Given the description of an element on the screen output the (x, y) to click on. 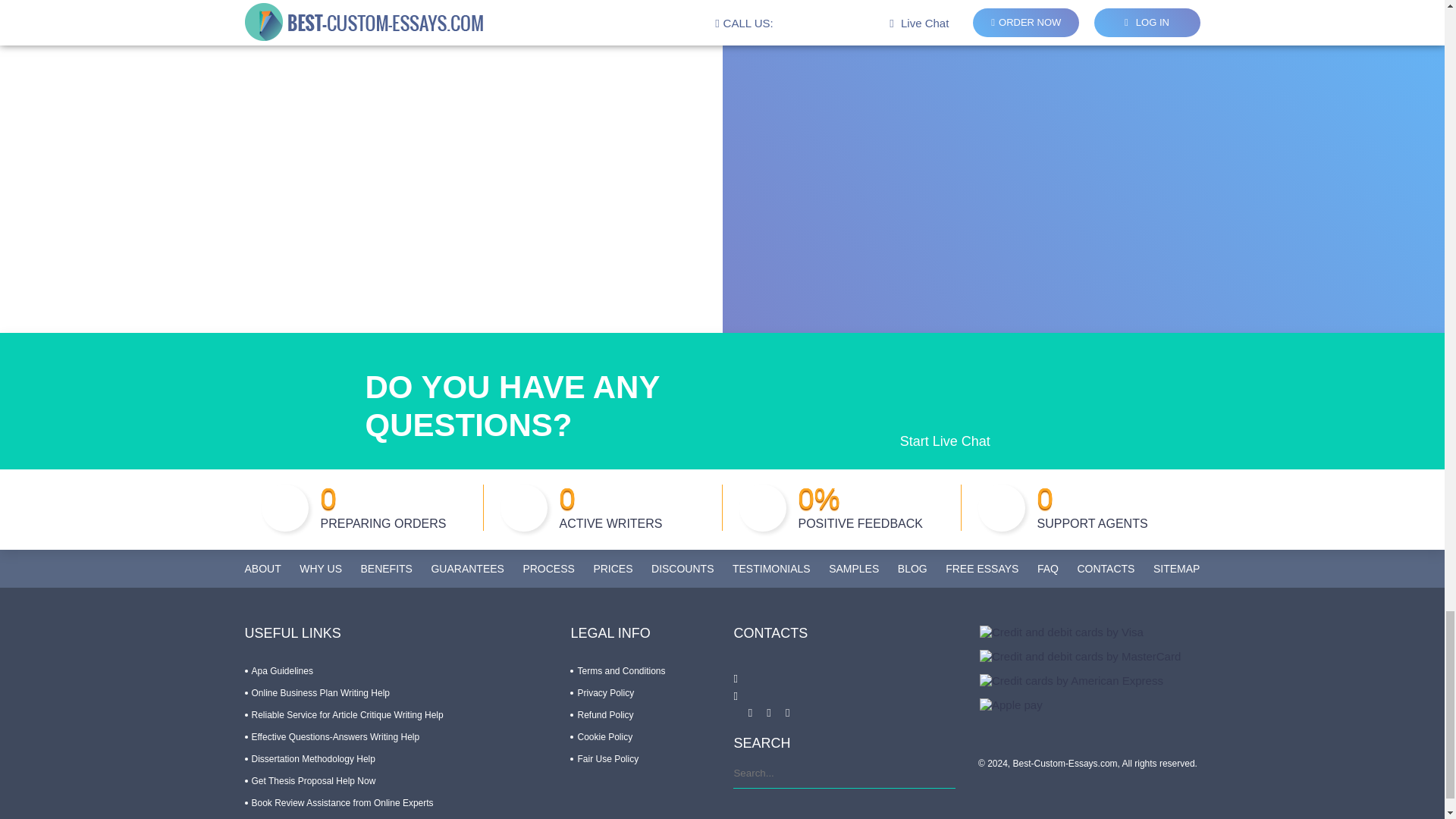
Book Review Assistance from Online Experts (338, 802)
Reliable Service for Article Critique Writing Help (343, 715)
GUARANTEES (466, 568)
Online Business Plan Writing Help (317, 692)
Effective Questions-Answers Writing Help (331, 737)
Credit and debit cards by Visa (1060, 631)
BENEFITS (385, 568)
Apple pay (1010, 704)
Apa Guidelines (278, 670)
Get Thesis Proposal Help Now (309, 780)
Credit cards by American Express (1071, 680)
WHY US (320, 568)
Credit and debit cards by MasterCard (1079, 656)
Dissertation Methodology Help (309, 758)
ABOUT (262, 568)
